Given the description of an element on the screen output the (x, y) to click on. 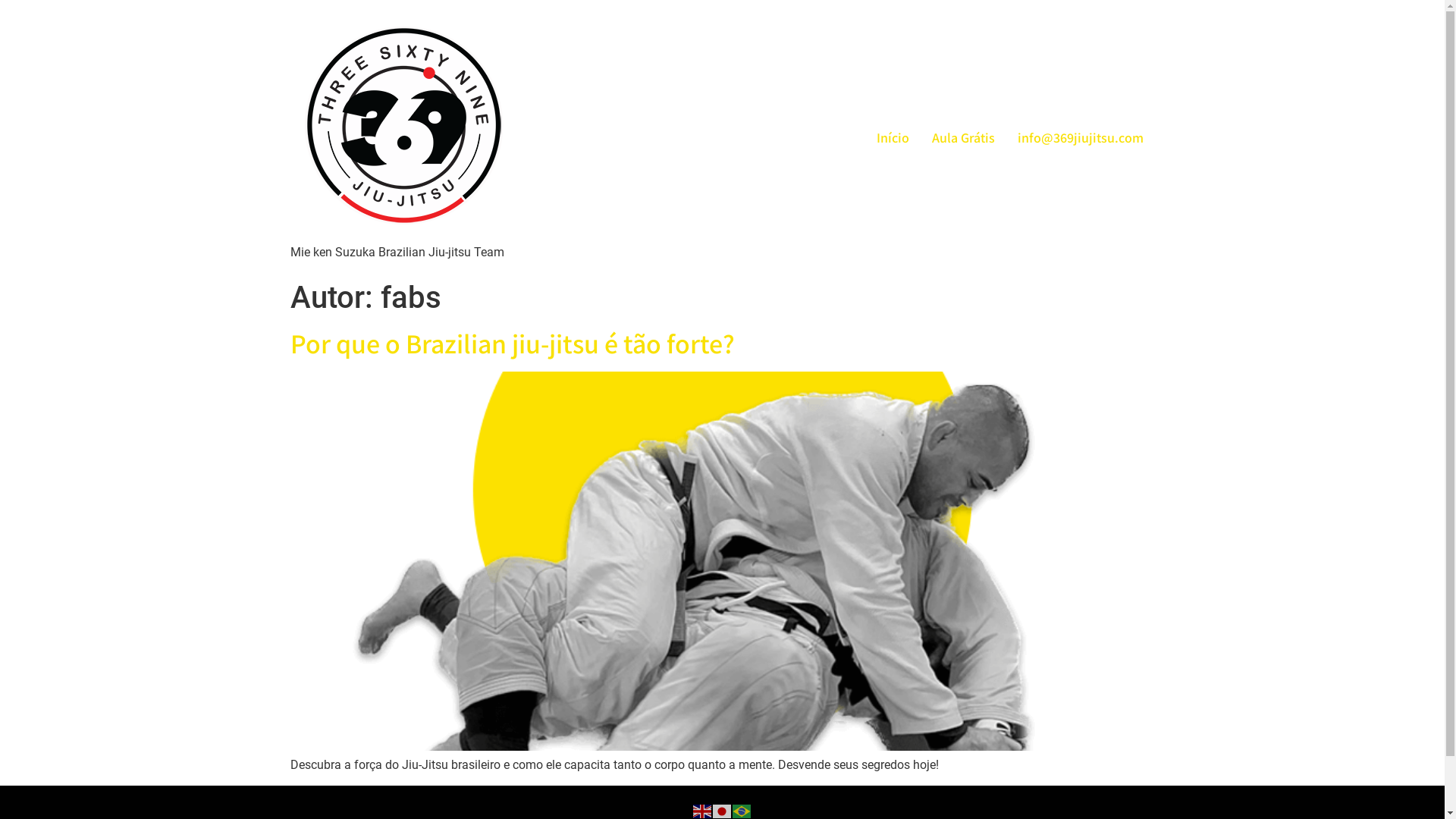
info@369jiujitsu.com Element type: text (1079, 136)
